Given the description of an element on the screen output the (x, y) to click on. 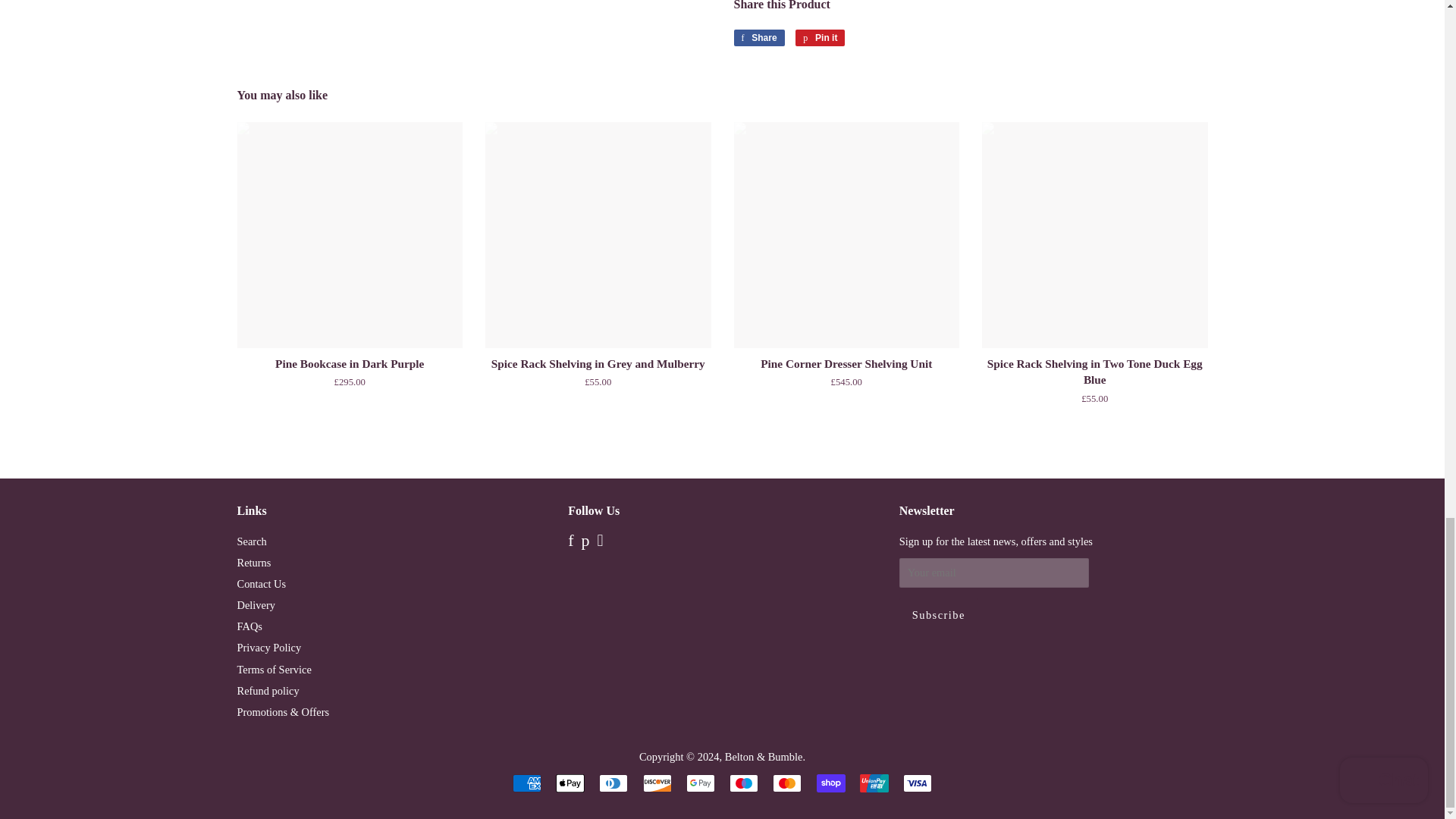
Discover (657, 782)
Google Pay (699, 782)
Union Pay (874, 782)
Diners Club (612, 782)
American Express (526, 782)
Shop Pay (830, 782)
Pin on Pinterest (819, 37)
Apple Pay (570, 782)
Mastercard (787, 782)
Visa (916, 782)
